Given the description of an element on the screen output the (x, y) to click on. 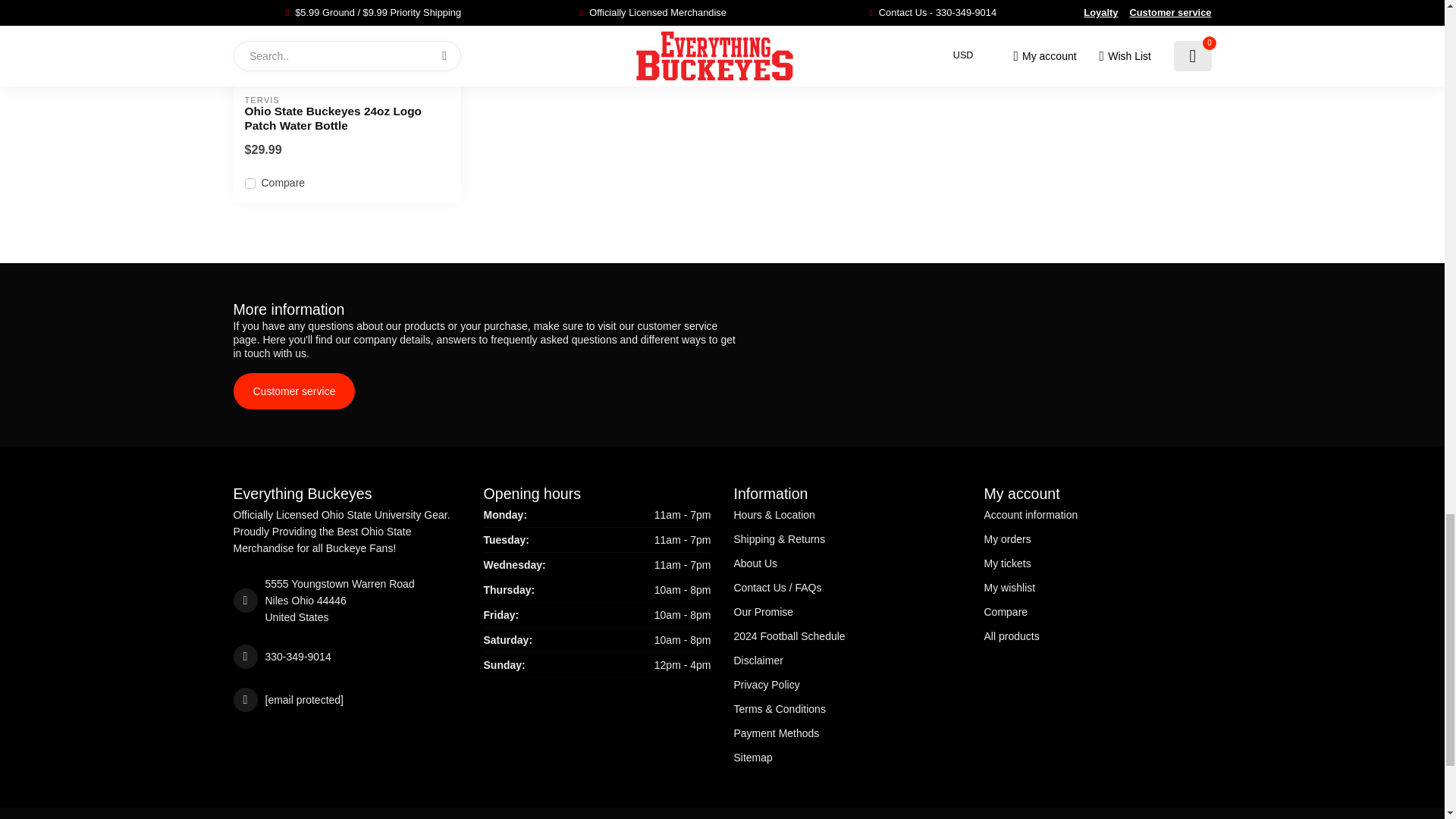
2024 Football Schedule (846, 636)
Account information (1097, 514)
Privacy Policy (846, 684)
Payment Methods (846, 733)
Disclaimer (846, 660)
Our Promise (846, 611)
My orders (1097, 539)
About Us (846, 563)
Tervis Ohio State Buckeyes 24oz Logo Patch Water Bottle (346, 118)
Tervis Ohio State Buckeyes 24oz Logo Patch Water Bottle (346, 42)
